Given the description of an element on the screen output the (x, y) to click on. 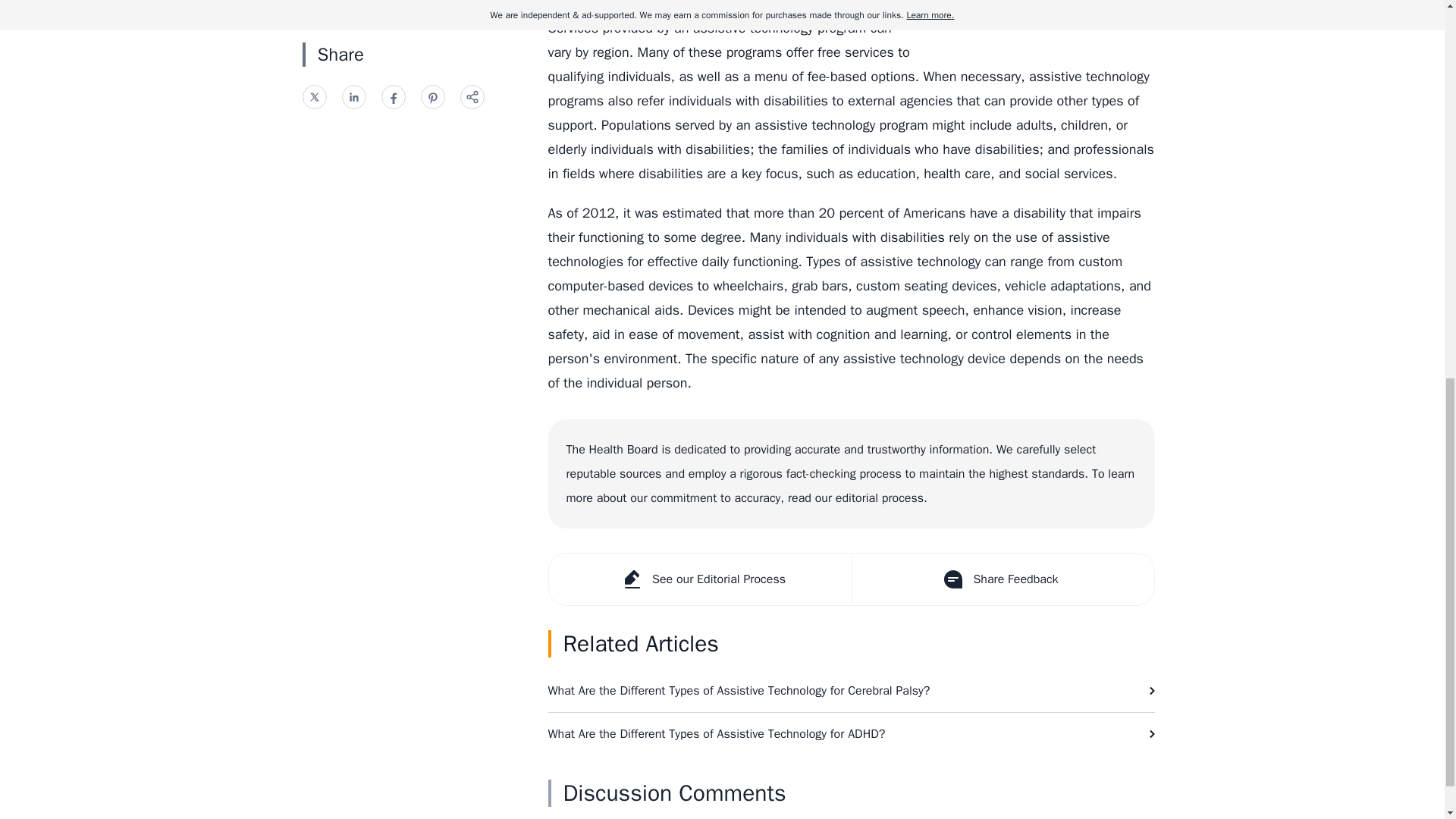
See our Editorial Process (699, 579)
Share Feedback (1001, 579)
